Given the description of an element on the screen output the (x, y) to click on. 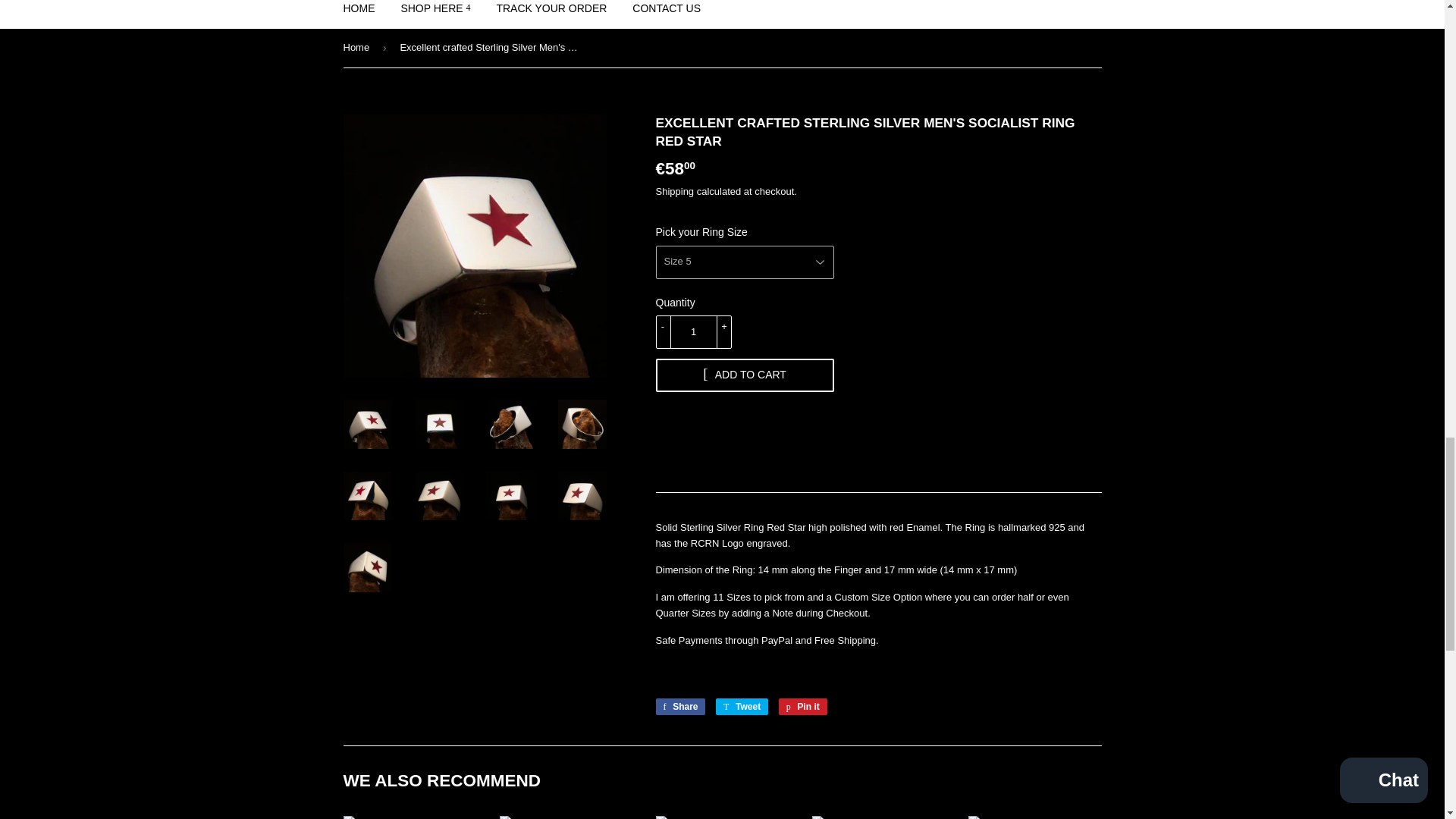
Shipping (674, 191)
1 (692, 331)
HOME (359, 13)
Pin on Pinterest (802, 706)
Share on Facebook (679, 706)
Tweet on Twitter (742, 706)
TRACK YOUR ORDER (550, 13)
SHOP HERE (434, 13)
CONTACT US (666, 13)
ADD TO CART (743, 375)
